Given the description of an element on the screen output the (x, y) to click on. 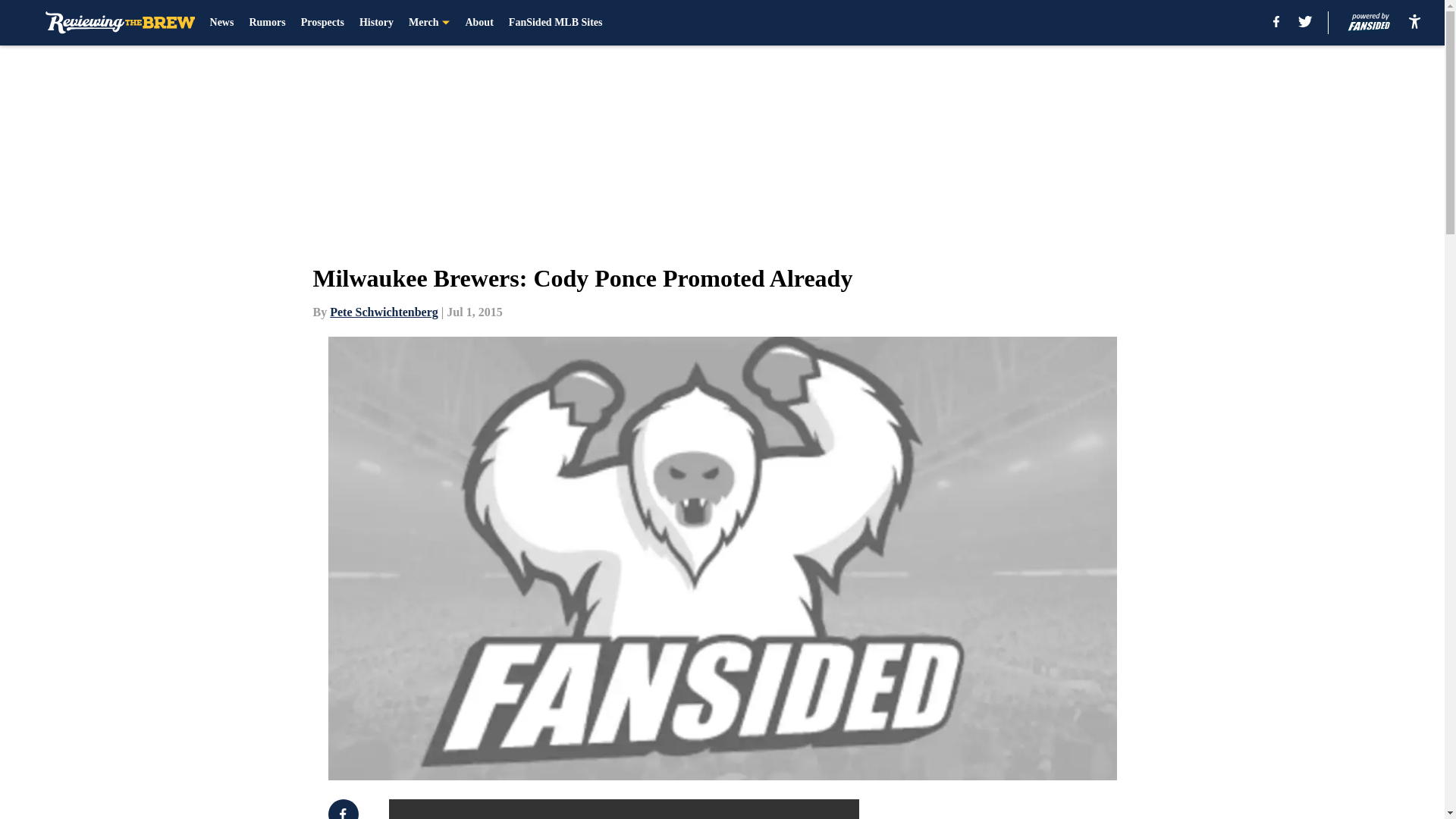
Prospects (322, 22)
History (376, 22)
Pete Schwichtenberg (384, 311)
About (478, 22)
Rumors (266, 22)
News (221, 22)
FanSided MLB Sites (555, 22)
3rd party ad content (1047, 809)
